Given the description of an element on the screen output the (x, y) to click on. 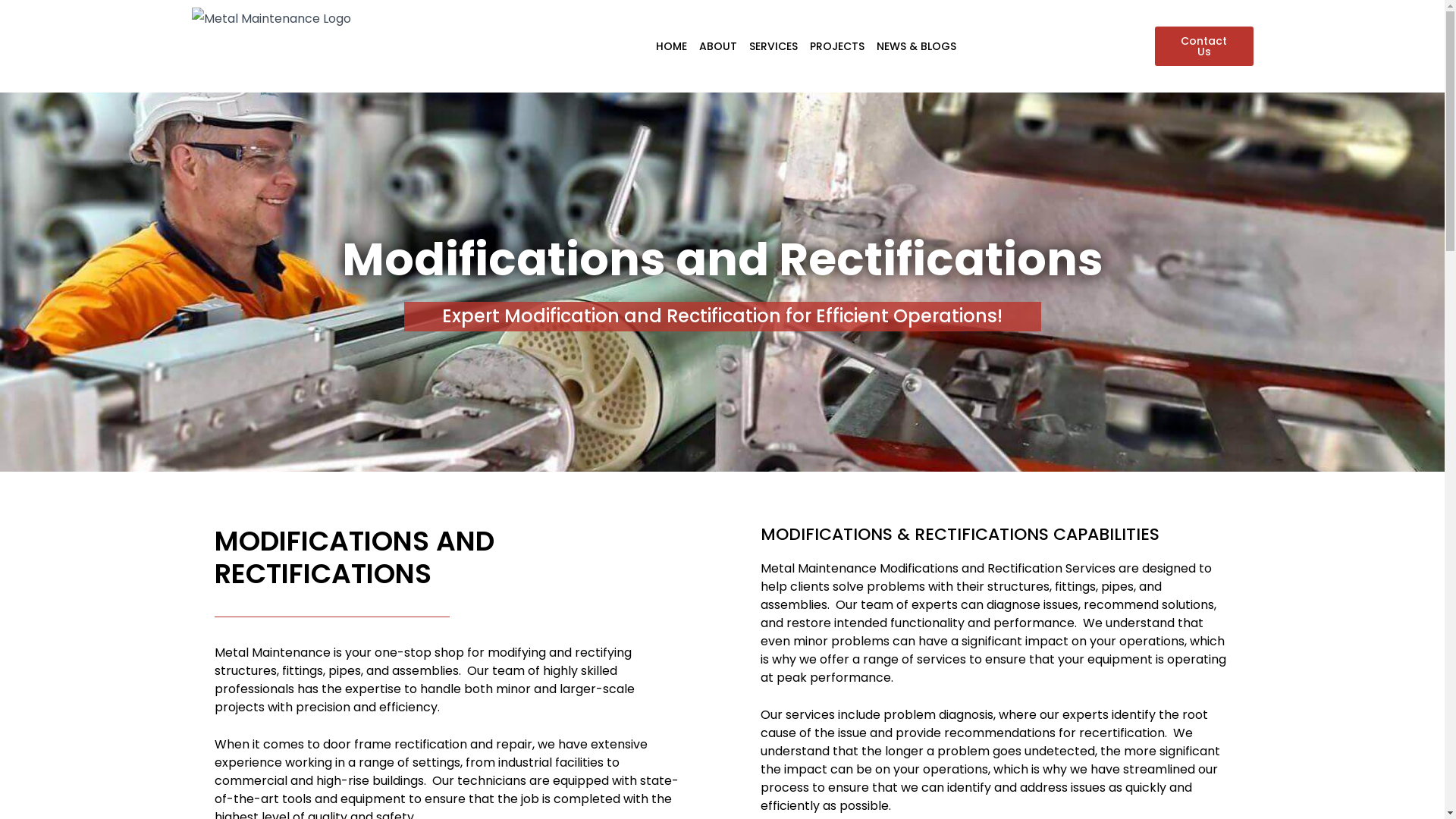
ABOUT Element type: text (718, 45)
HOME Element type: text (670, 45)
SERVICES Element type: text (773, 45)
PROJECTS Element type: text (836, 45)
Contact Us Element type: text (1203, 45)
NEWS & BLOGS Element type: text (916, 45)
